Given the description of an element on the screen output the (x, y) to click on. 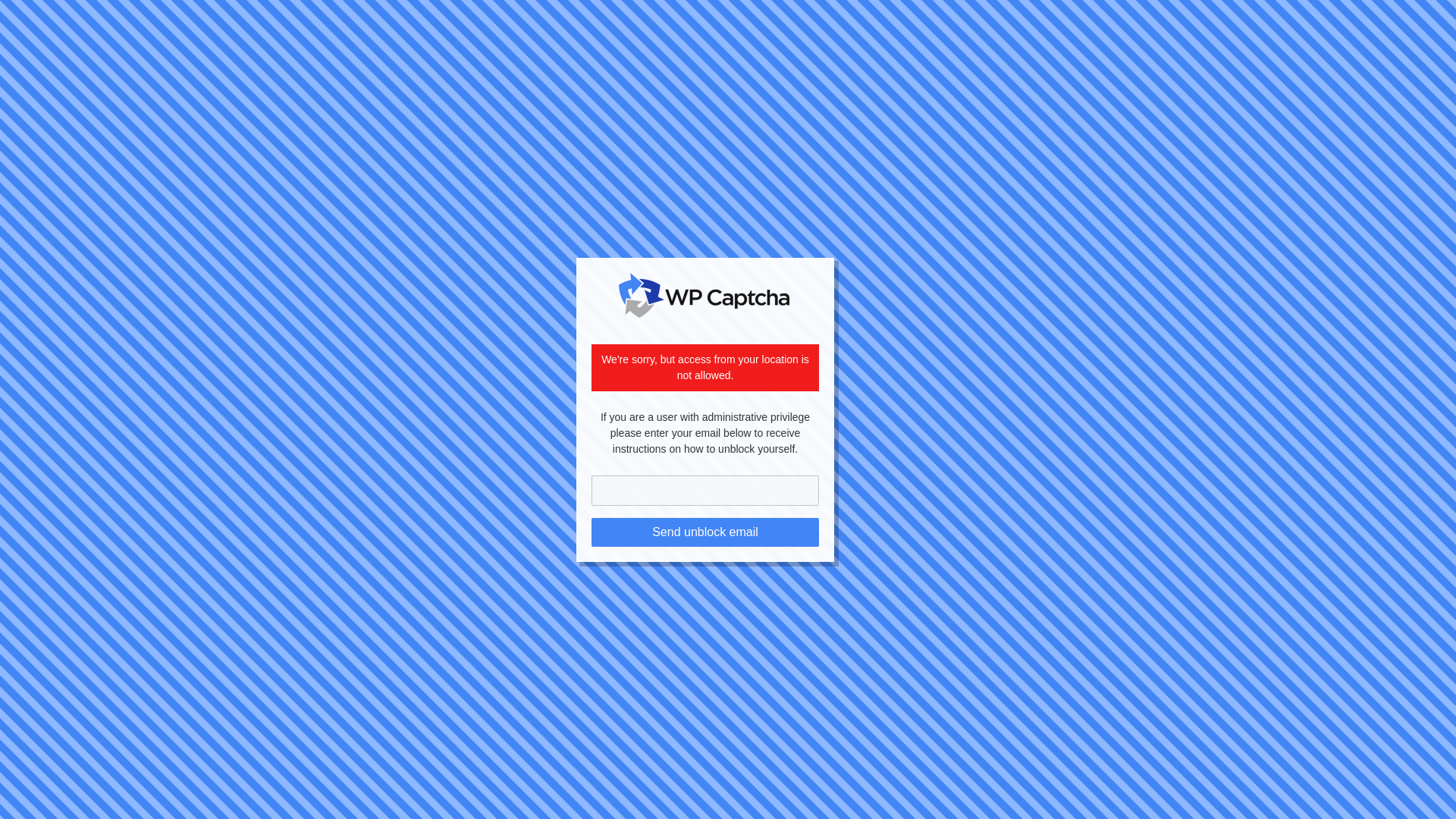
Send unblock email (704, 532)
Send unblock email (704, 532)
WP Captcha PRO (704, 295)
